Given the description of an element on the screen output the (x, y) to click on. 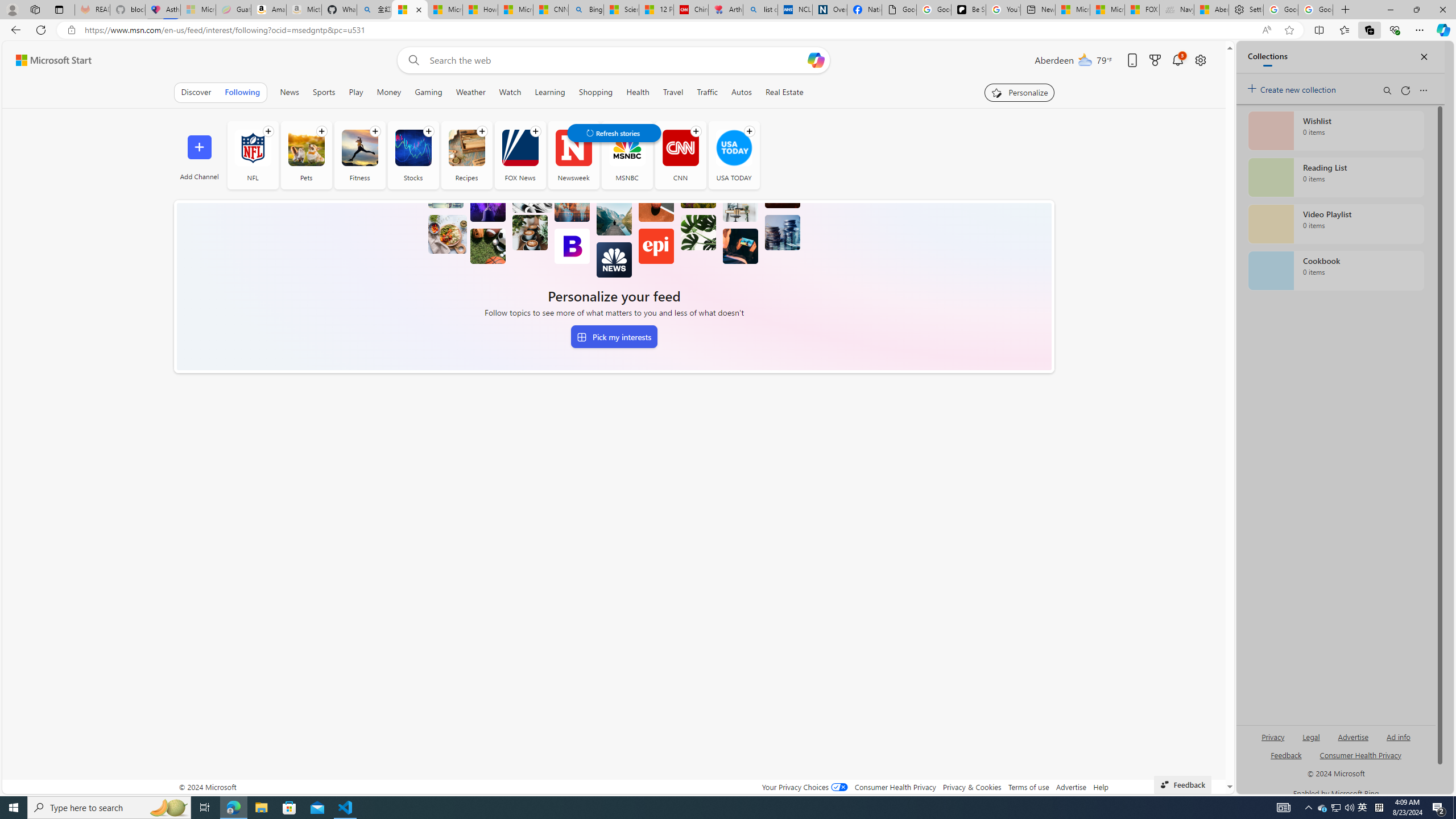
Travel (672, 92)
Help (1100, 786)
Mostly cloudy (1085, 59)
App bar (728, 29)
Aberdeen, Hong Kong SAR hourly forecast | Microsoft Weather (1211, 9)
Following (243, 92)
AutomationID: sb_feedback (1286, 754)
Learning (549, 92)
FOX News (520, 147)
CNN (680, 155)
